Given the description of an element on the screen output the (x, y) to click on. 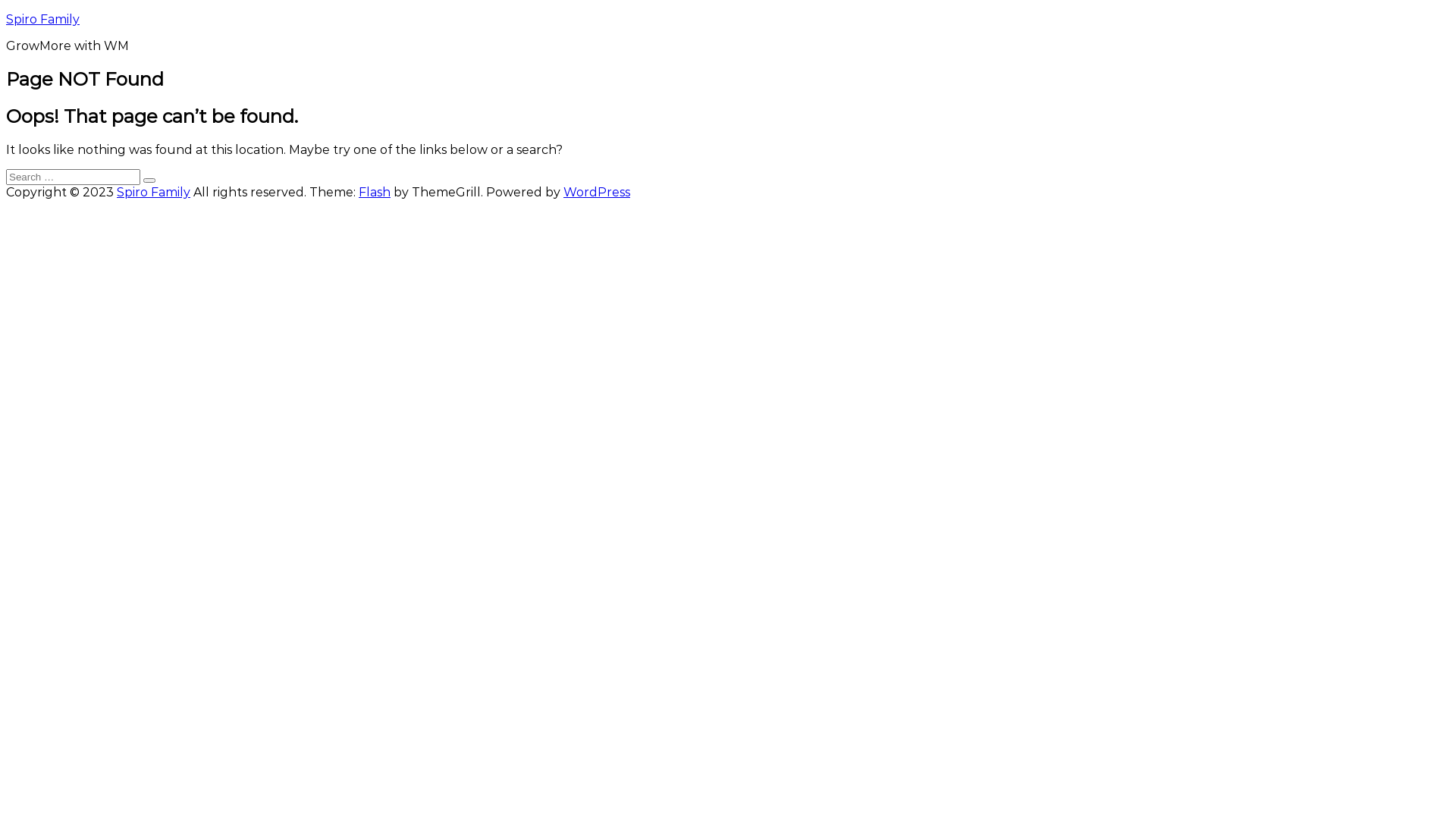
Skip to content Element type: text (5, 11)
Search Element type: text (149, 180)
Flash Element type: text (374, 192)
Spiro Family Element type: text (153, 192)
Spiro Family Element type: text (42, 19)
WordPress Element type: text (596, 192)
